Given the description of an element on the screen output the (x, y) to click on. 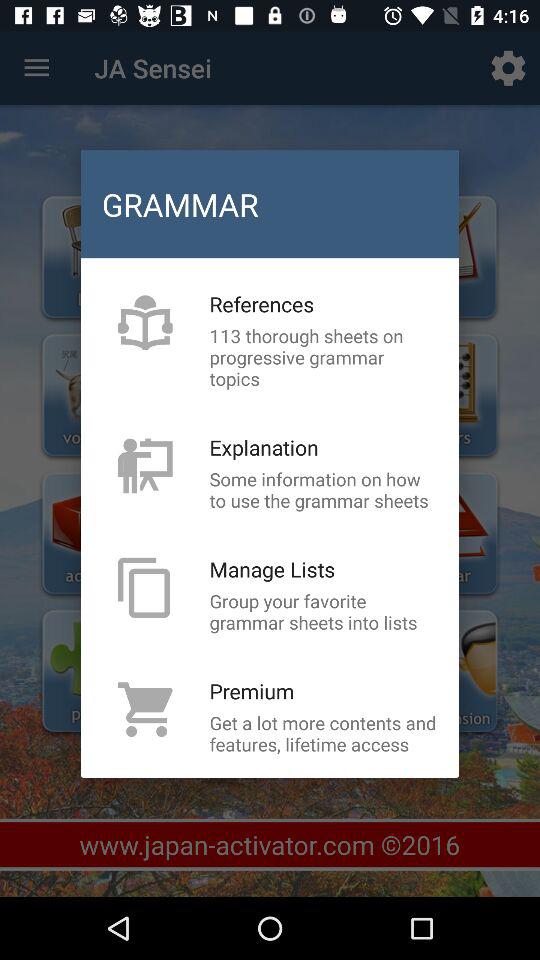
tap the manage lists icon (272, 569)
